Given the description of an element on the screen output the (x, y) to click on. 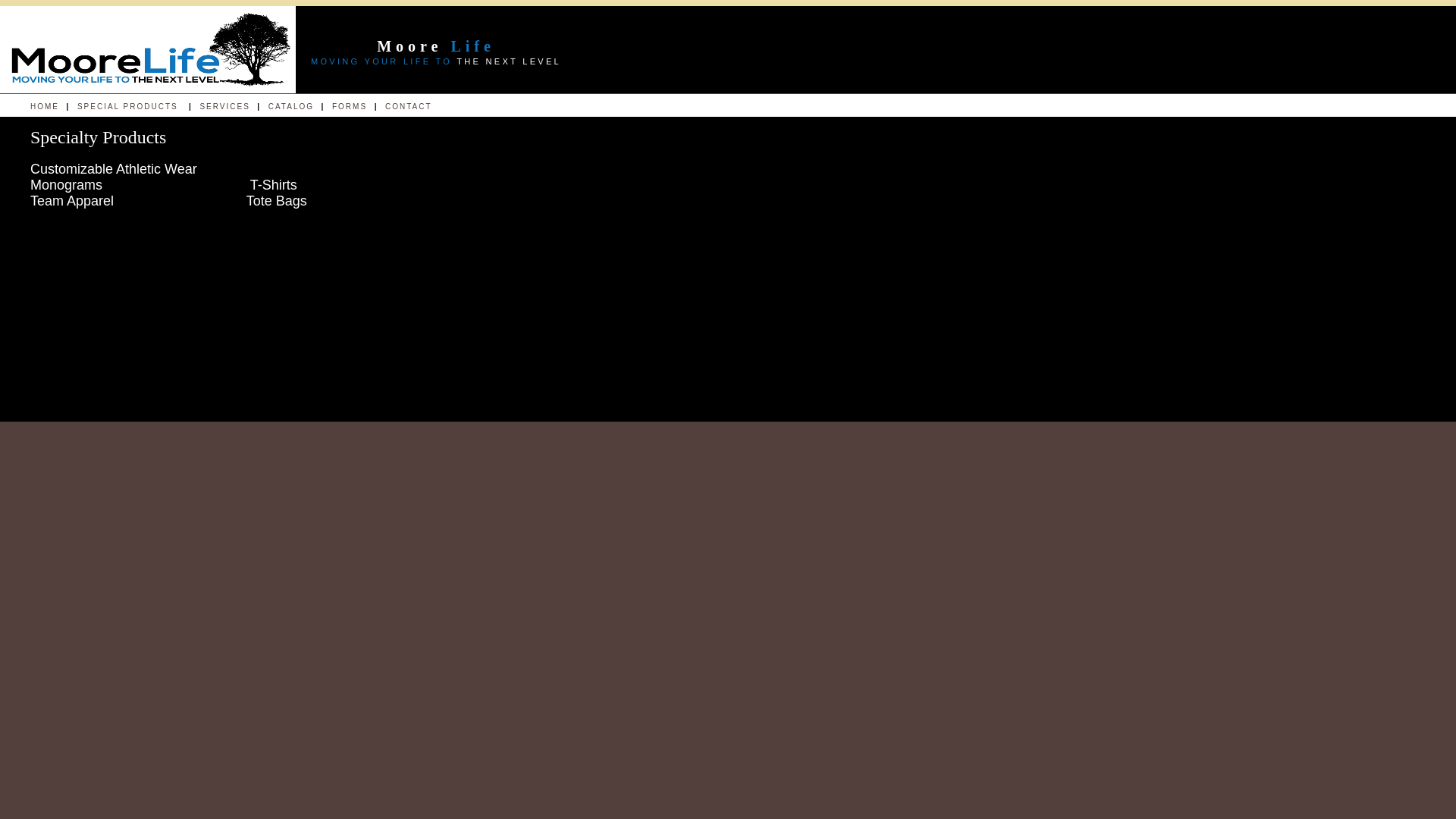
SPECIAL PRODUCTS Element type: text (127, 106)
 CONTACT Element type: text (406, 106)
SERVICES Element type: text (224, 106)
HOME Element type: text (44, 106)
  Element type: text (75, 106)
 CATALOG Element type: text (288, 106)
FORMS Element type: text (349, 106)
